Given the description of an element on the screen output the (x, y) to click on. 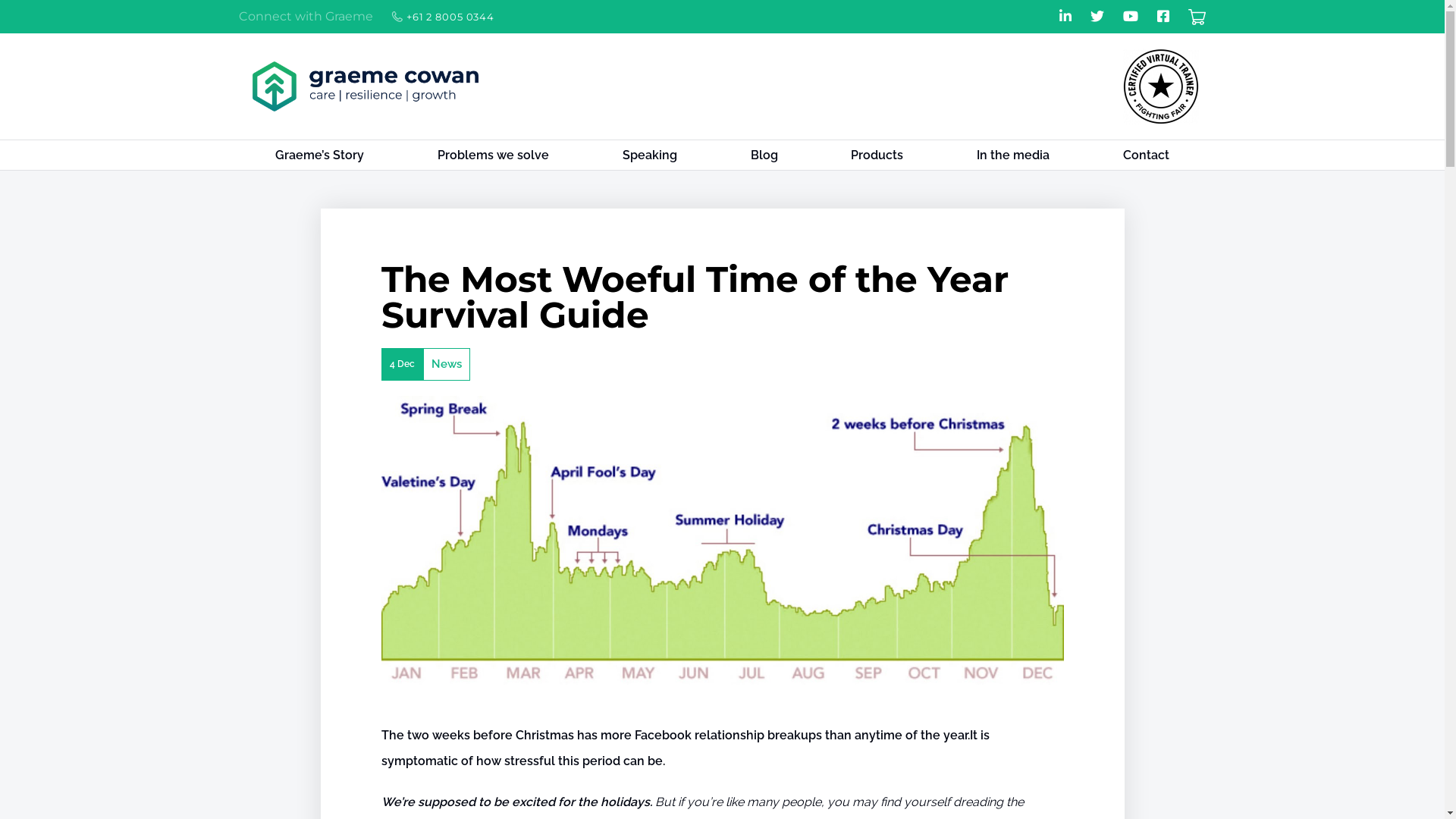
View your shopping cart Element type: hover (1196, 18)
Problems we solve Element type: text (493, 154)
+61 2 8005 0344 Element type: text (442, 16)
Products Element type: text (877, 154)
Search Element type: text (1138, 35)
Contact Element type: text (1145, 154)
Certified-Virtual-Trainer-black Element type: hover (1160, 86)
In the media Element type: text (1013, 154)
Speaking Element type: text (649, 154)
Blog Element type: text (763, 154)
